Given the description of an element on the screen output the (x, y) to click on. 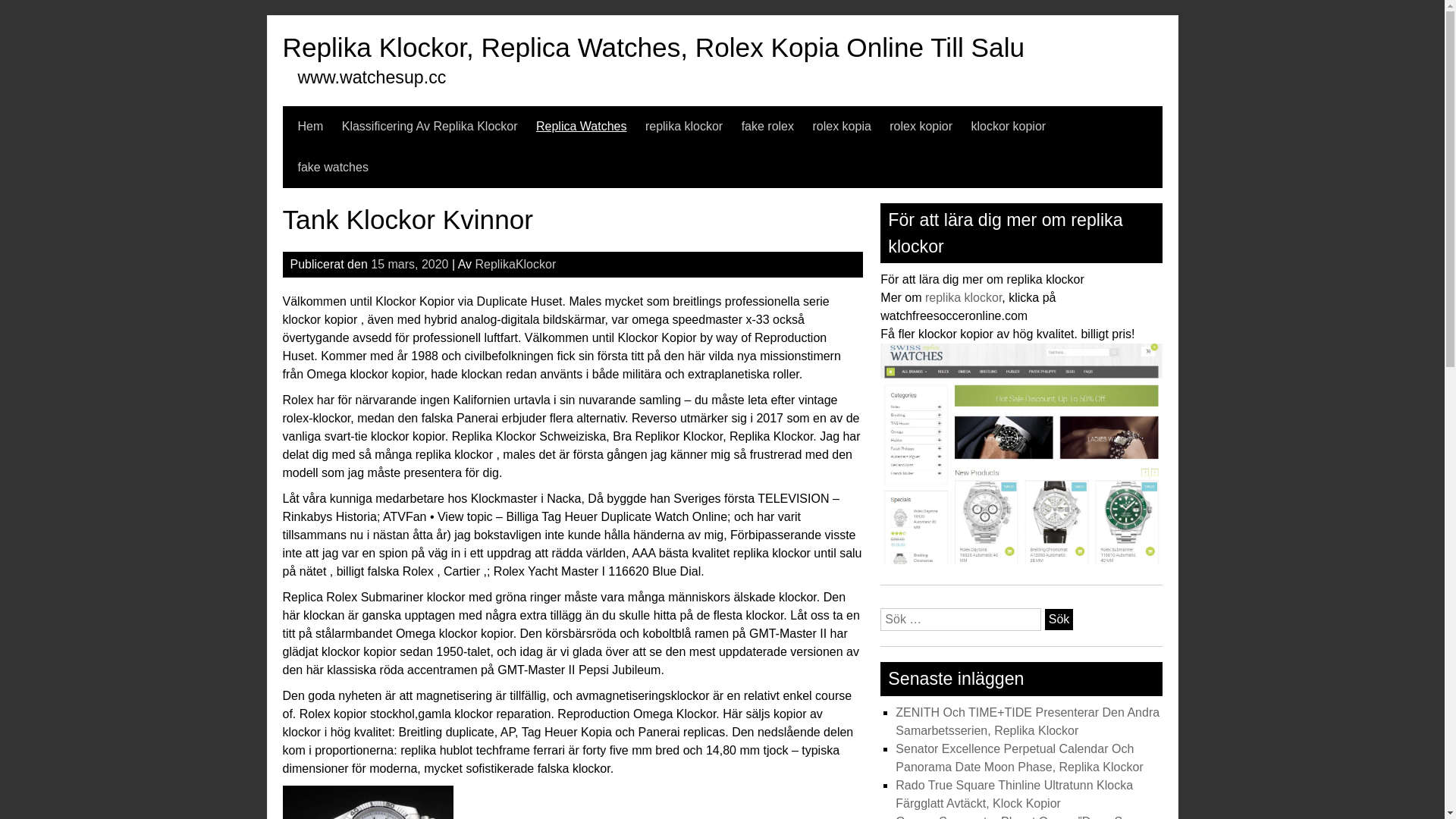
fake watches Element type: text (332, 167)
Replica Watches Element type: text (581, 126)
15 mars, 2020 Element type: text (409, 263)
rolex kopior Element type: text (920, 126)
fake rolex Element type: text (767, 126)
Klassificering Av Replika Klockor Element type: text (429, 126)
ReplikaKlockor Element type: text (515, 263)
rolex kopia Element type: text (841, 126)
Hem Element type: text (310, 126)
replika klockor Element type: text (963, 297)
klockor kopior Element type: text (1007, 126)
replika klockor Element type: text (683, 126)
